Given the description of an element on the screen output the (x, y) to click on. 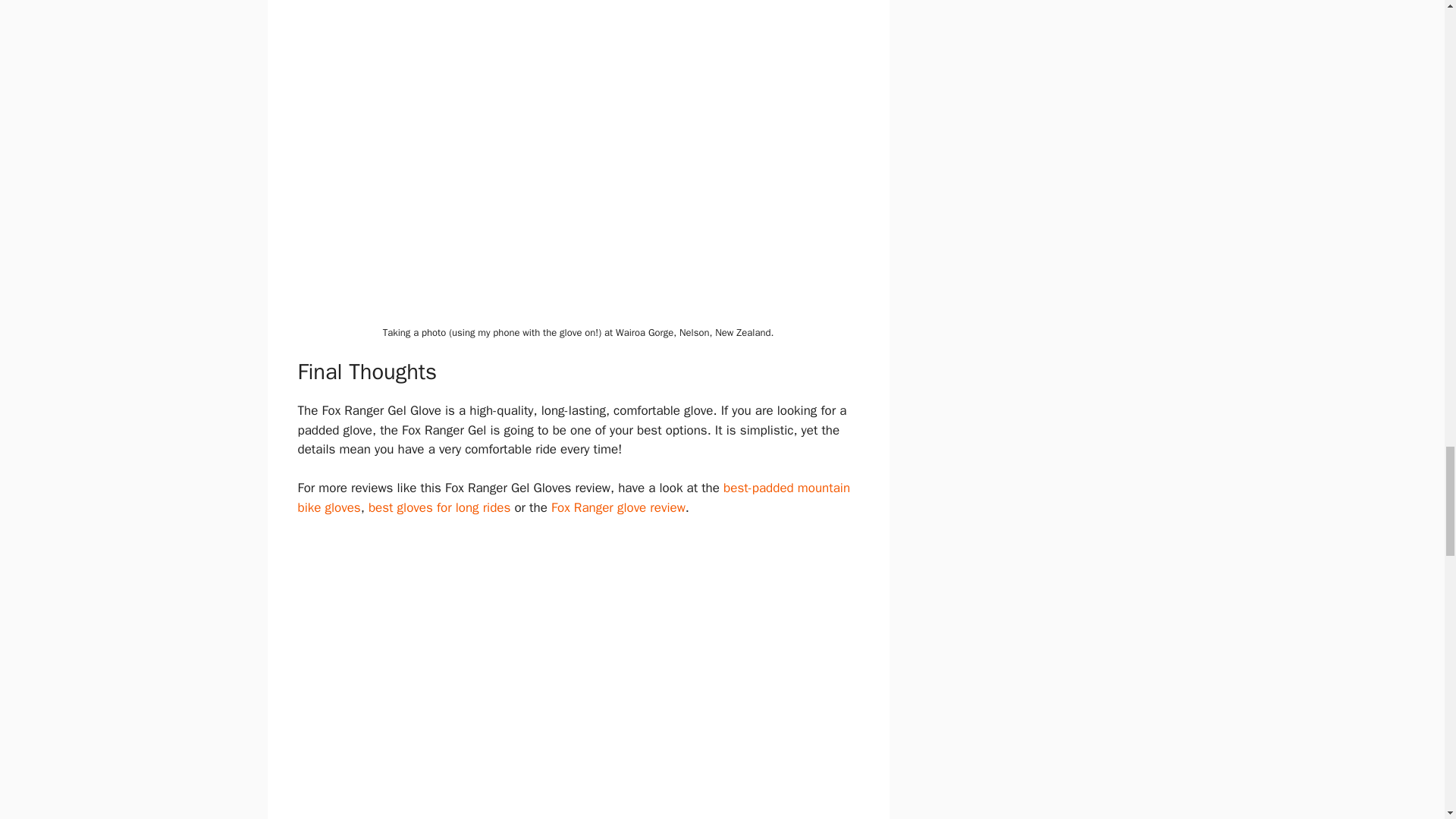
Fox Ranger glove review (618, 507)
best-padded mountain bike gloves (573, 497)
best gloves for long rides (439, 507)
